Given the description of an element on the screen output the (x, y) to click on. 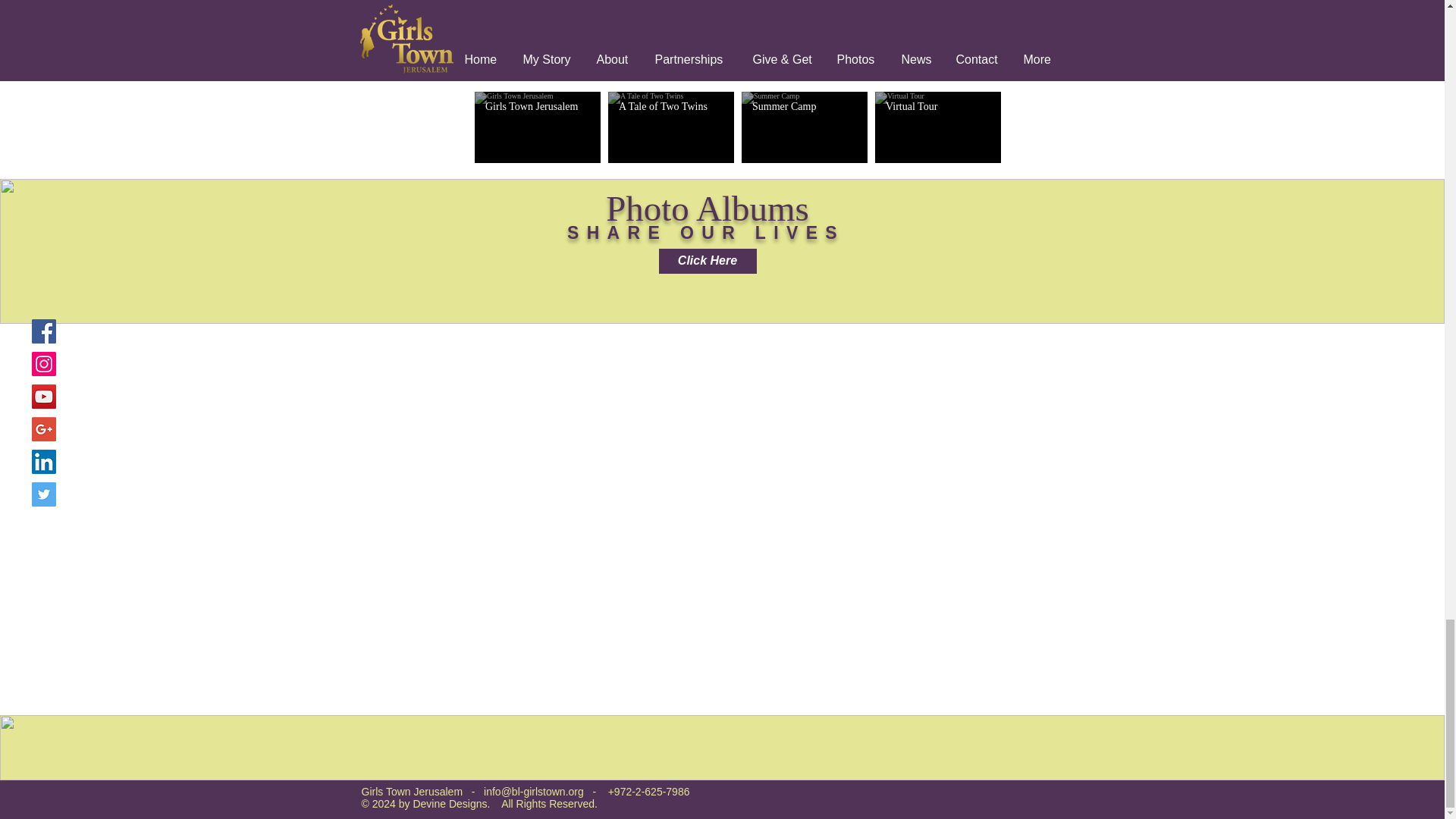
Summer Camp (804, 106)
Virtual Tour (937, 106)
A Tale of Two Twins (670, 106)
Girls Town Jerusalem (536, 106)
